Given the description of an element on the screen output the (x, y) to click on. 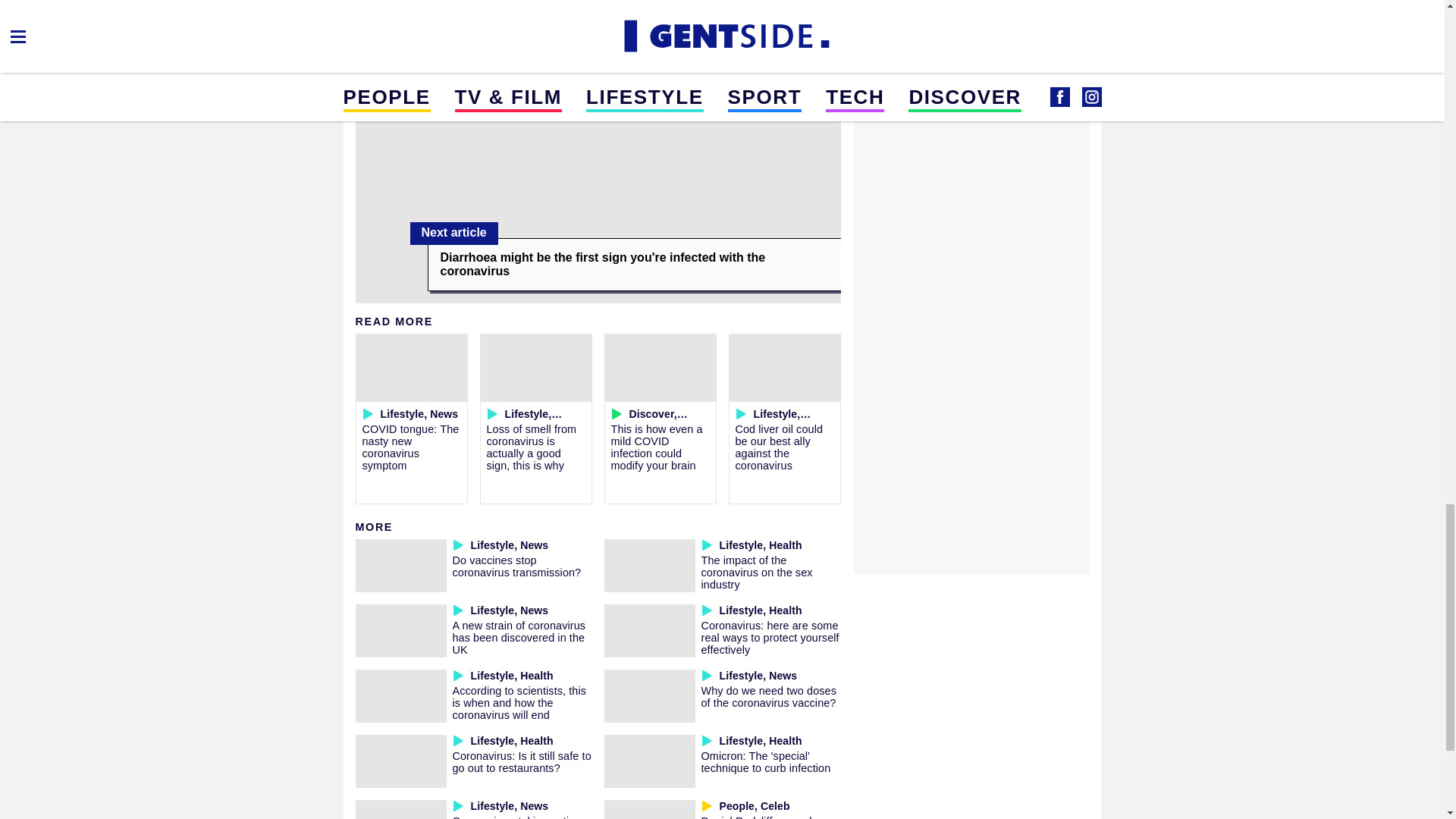
HEALTH (380, 8)
The impact of the coronavirus on the sex industry (756, 572)
Coronavirus: Is it still safe to go out to restaurants? (521, 761)
Do vaccines stop coronavirus transmission? (515, 566)
Cod liver oil could be our best ally against the coronavirus (779, 447)
COVID tongue: The nasty new coronavirus symptom (411, 447)
A new strain of coronavirus has been discovered in the UK (518, 637)
CORONAVIRUS (447, 8)
Why do we need two doses of the coronavirus vaccine? (767, 696)
